Given the description of an element on the screen output the (x, y) to click on. 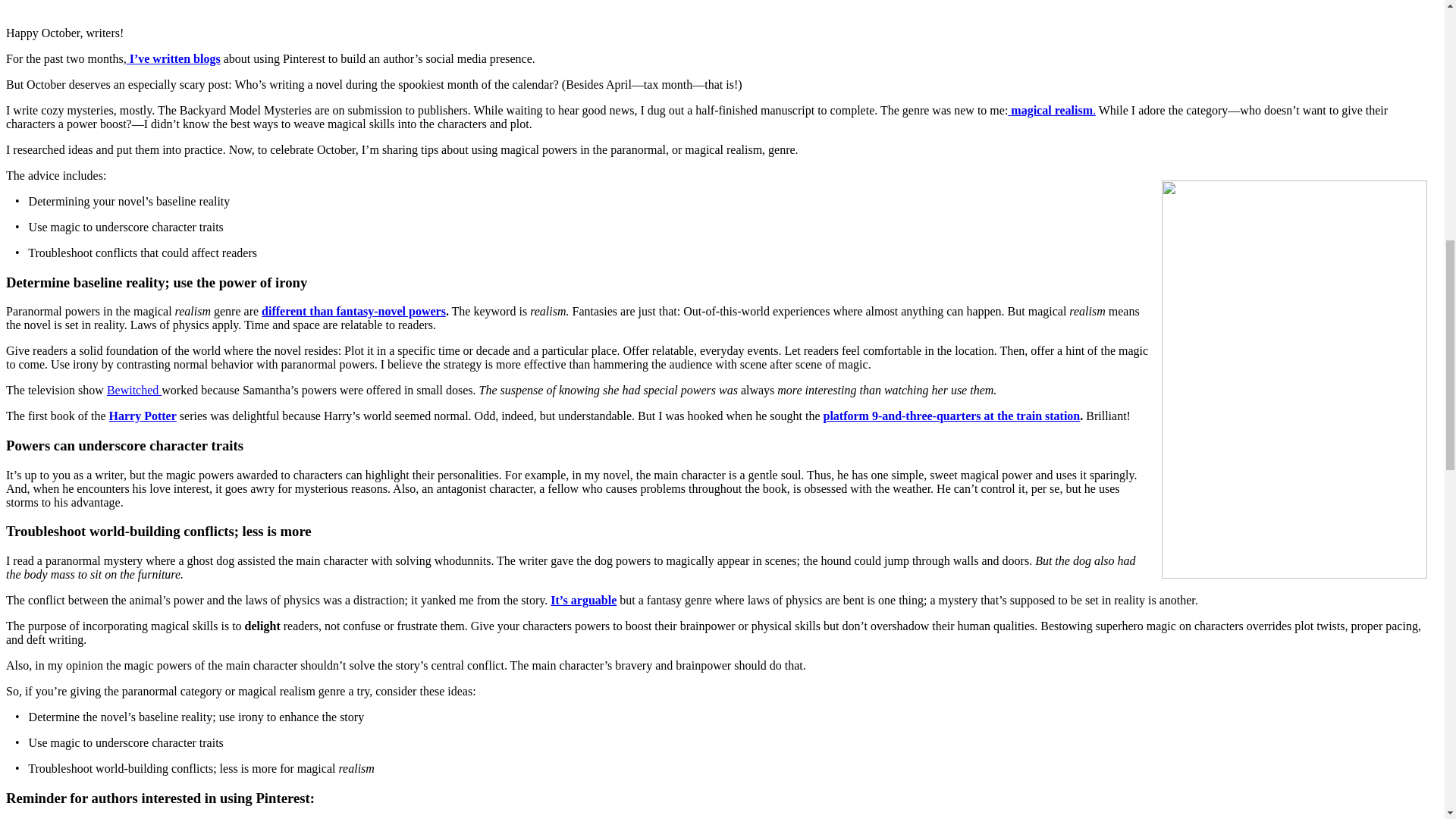
Harry Potter (142, 415)
Bewitched (133, 390)
magical realism. (1051, 110)
different than fantasy-novel powers (353, 310)
